Given the description of an element on the screen output the (x, y) to click on. 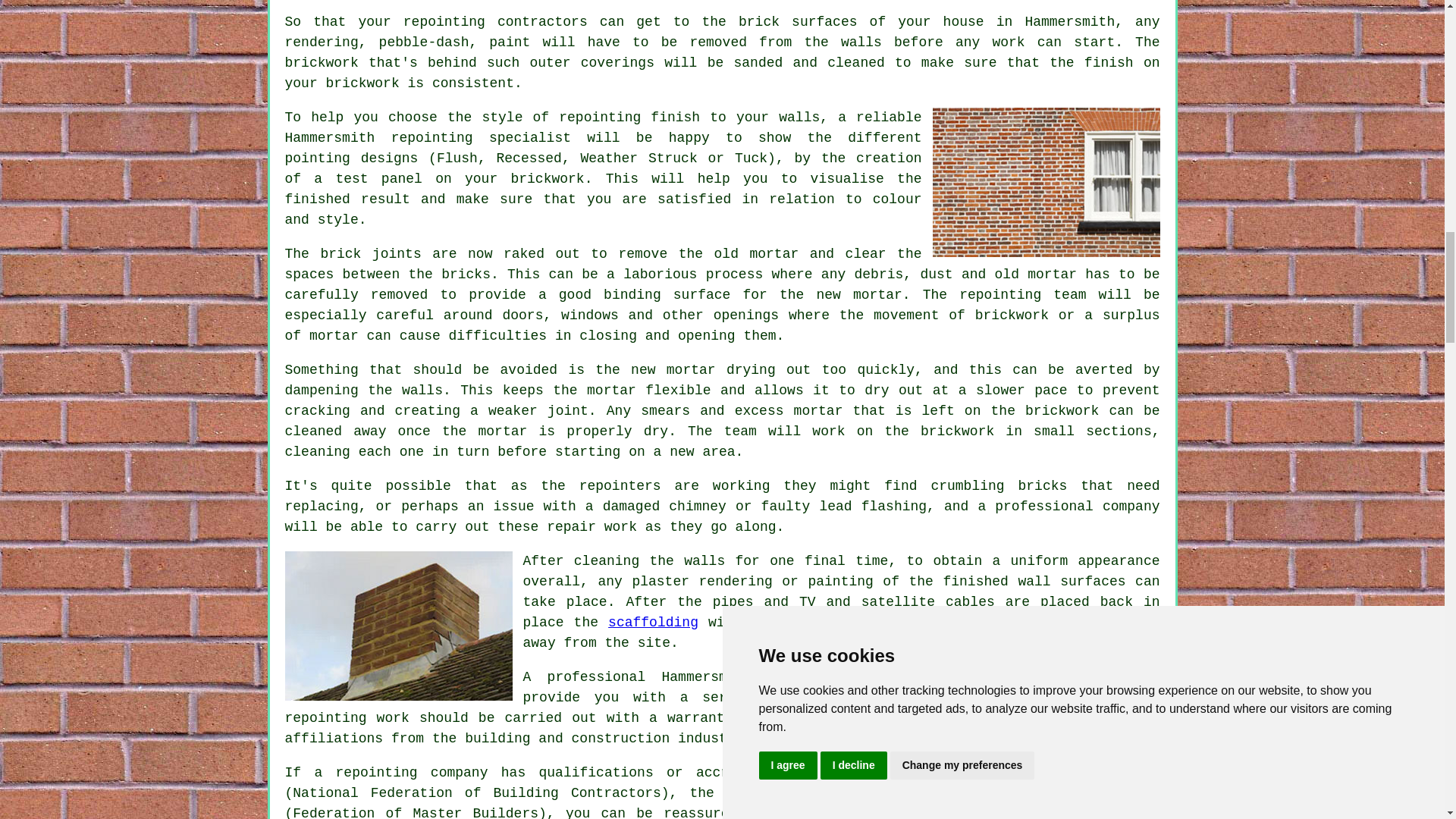
repointing specialist (480, 137)
cracking (317, 410)
brickwork (321, 62)
new mortar (858, 294)
